Given the description of an element on the screen output the (x, y) to click on. 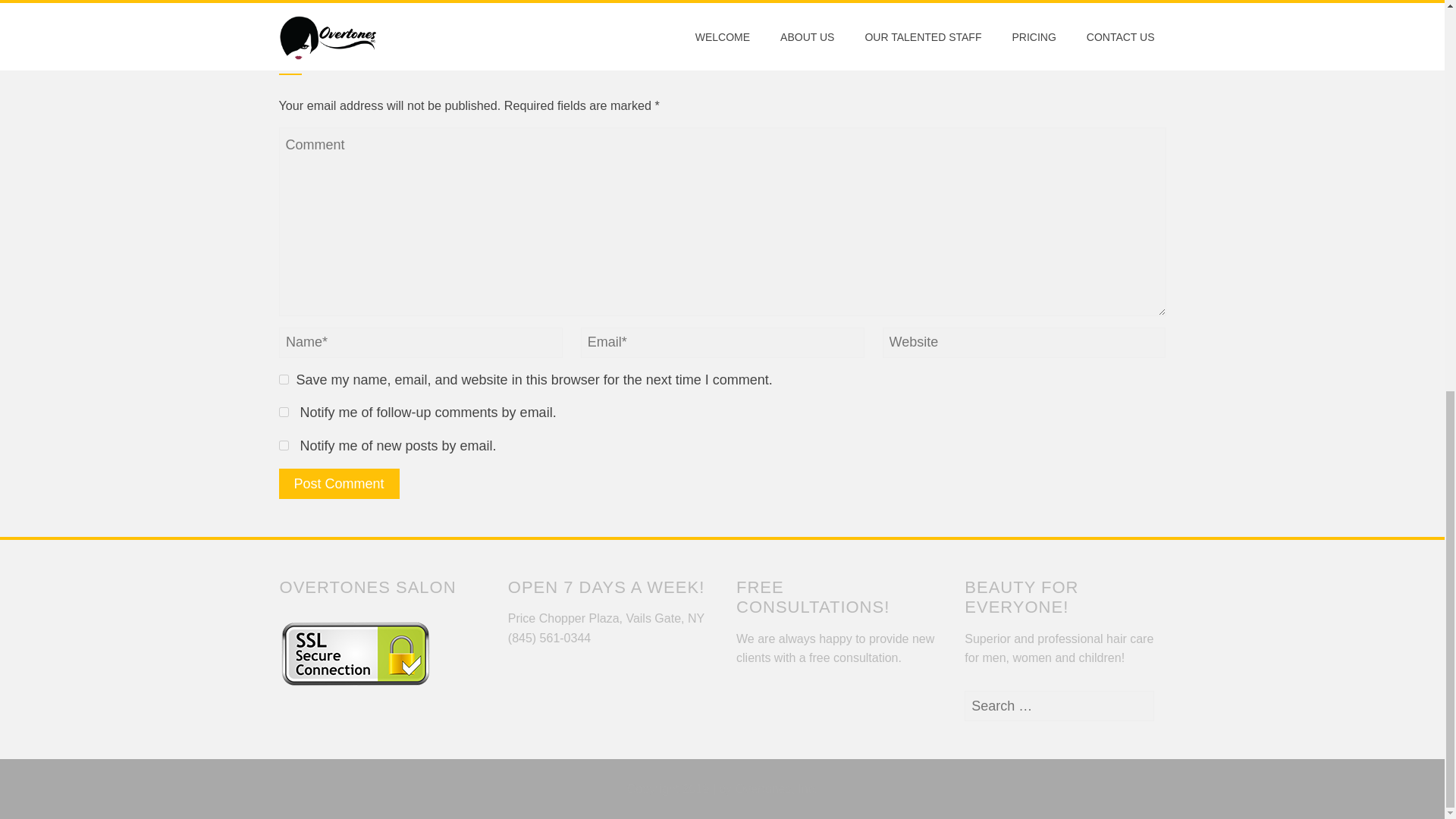
subscribe (283, 411)
Post Comment (338, 483)
subscribe (283, 445)
yes (283, 379)
Post Comment (338, 483)
